Given the description of an element on the screen output the (x, y) to click on. 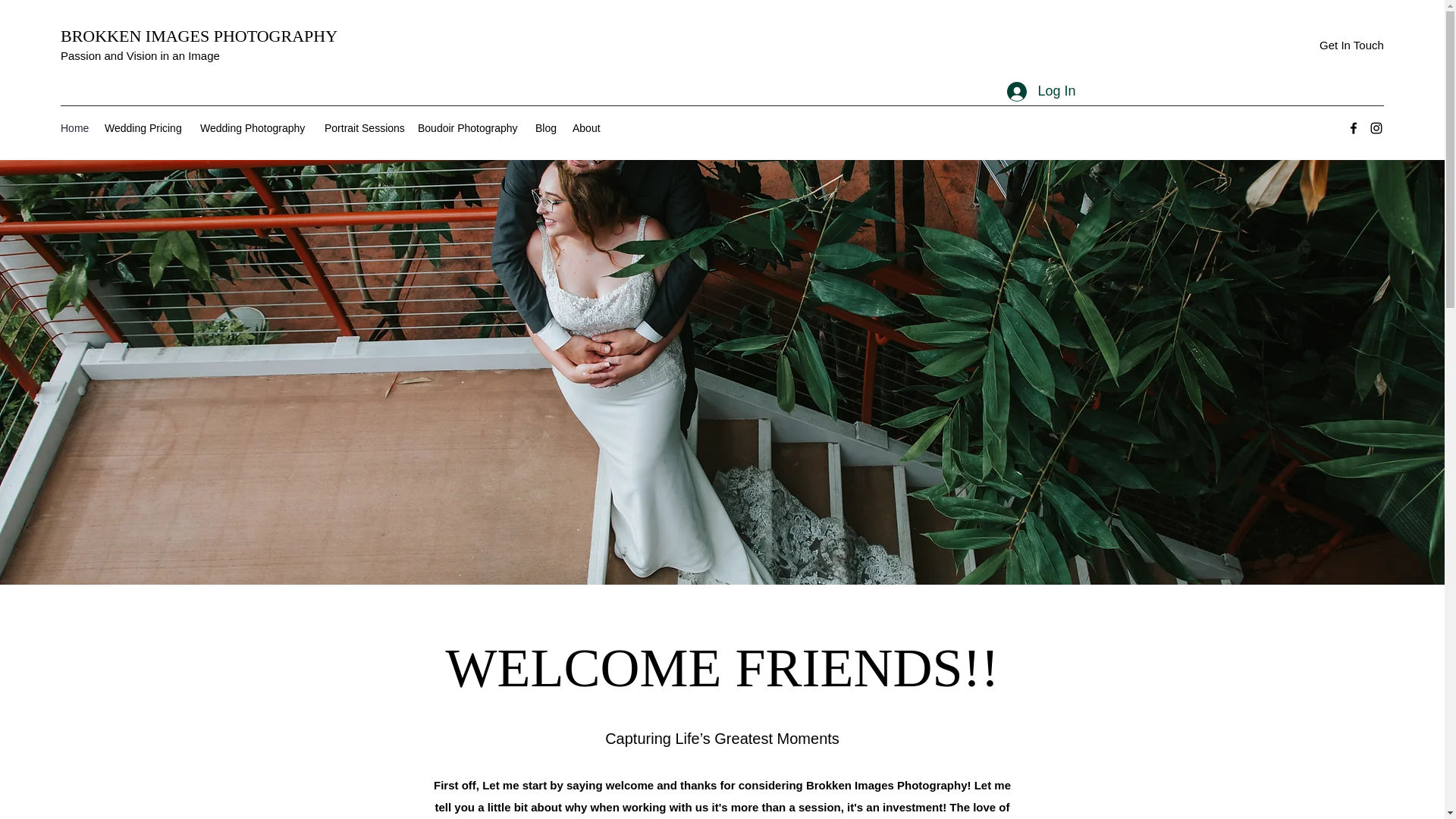
BROKKEN IMAGES PHOTOGRAPHY (199, 35)
Blog (545, 128)
Boudoir Photography (468, 128)
Wedding Pricing (144, 128)
Portrait Sessions (363, 128)
Get In Touch (1351, 45)
Log In (1040, 91)
Wedding Photography (254, 128)
About (587, 128)
Home (74, 128)
